Given the description of an element on the screen output the (x, y) to click on. 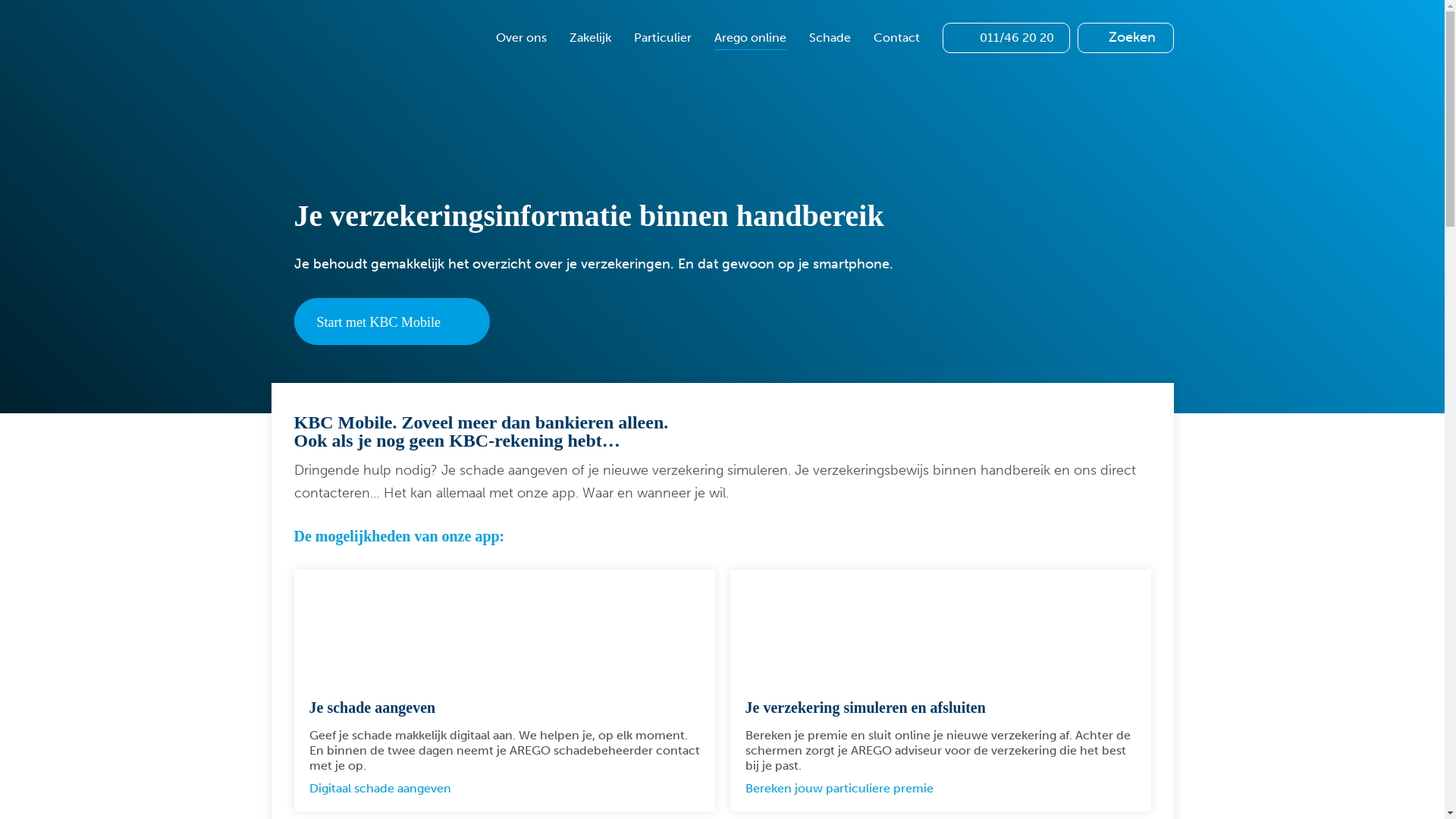
011/46 20 20 Element type: text (1005, 37)
Zoeken Element type: text (1091, 37)
Arego online Element type: text (750, 38)
Digitaal schade aangeven Element type: text (389, 788)
Bereken jouw particuliere premie Element type: text (847, 788)
Zakelijk Element type: text (589, 37)
Contact Element type: text (896, 37)
Start met KBC Mobile Element type: text (392, 321)
Schade Element type: text (829, 37)
Over ons Element type: text (520, 37)
Particulier Element type: text (662, 37)
